Given the description of an element on the screen output the (x, y) to click on. 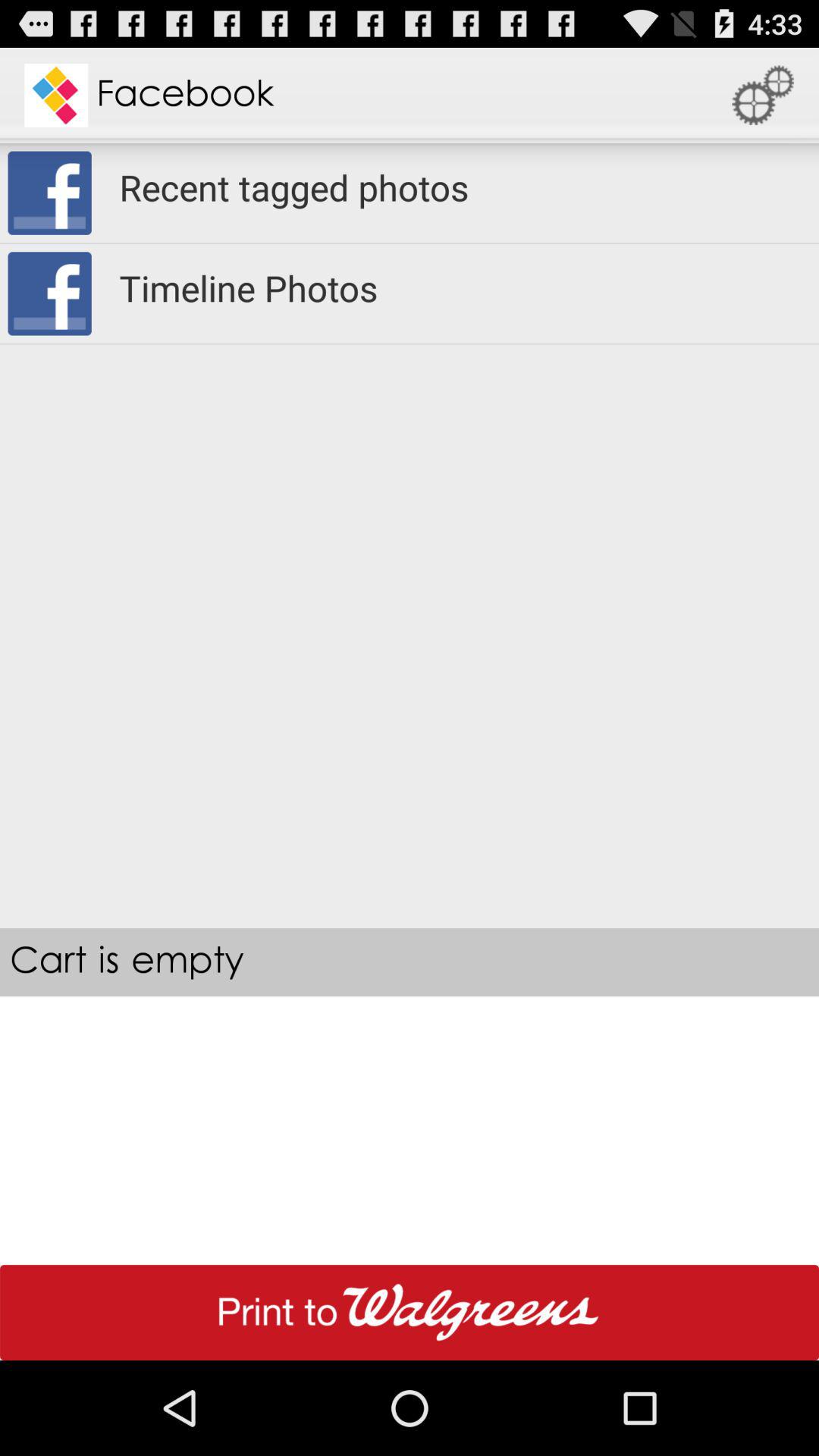
turn off icon next to the facebook (763, 95)
